Given the description of an element on the screen output the (x, y) to click on. 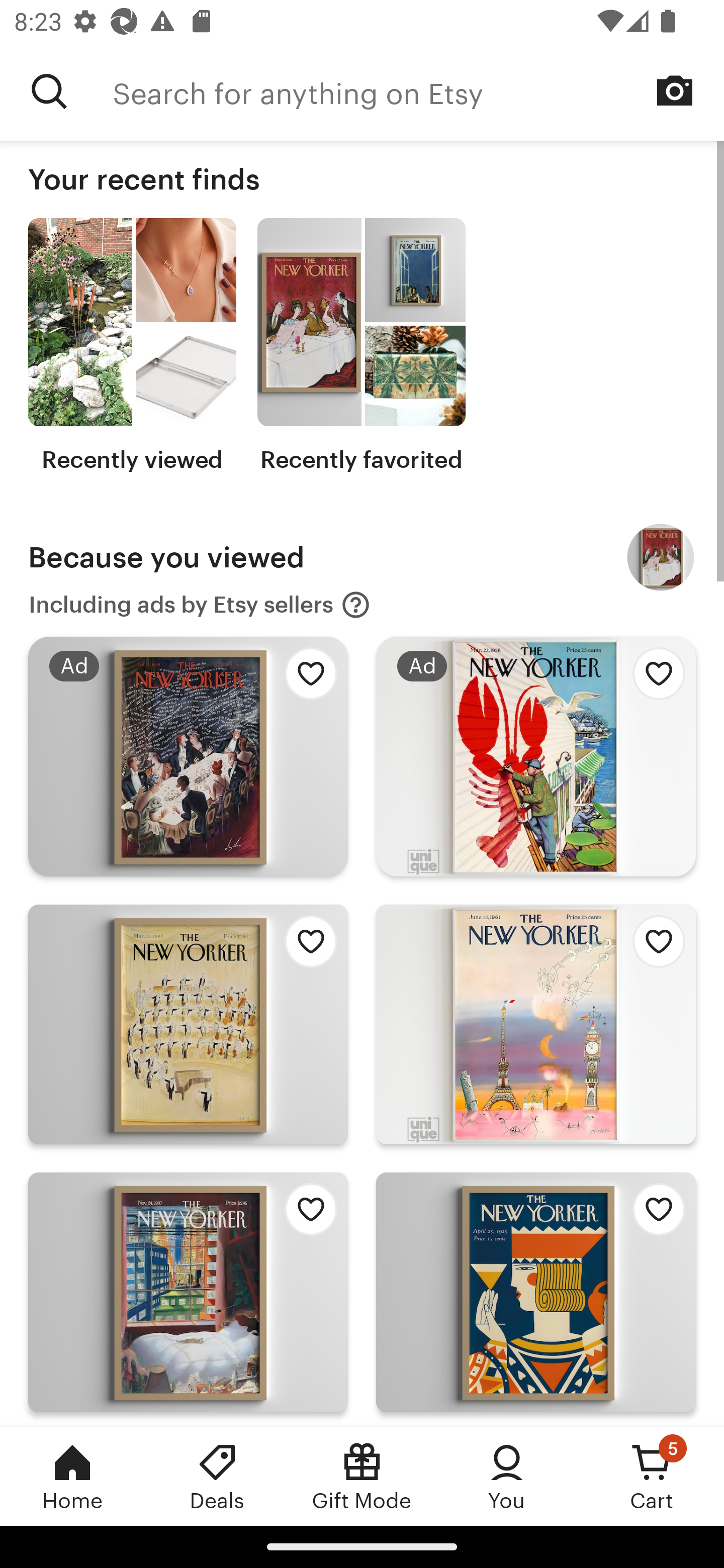
Search for anything on Etsy (49, 91)
Search by image (674, 90)
Search for anything on Etsy (418, 91)
Recently viewed (132, 345)
Recently favorited (361, 345)
Including ads by Etsy sellers (199, 604)
Deals (216, 1475)
Gift Mode (361, 1475)
You (506, 1475)
Cart, 5 new notifications Cart (651, 1475)
